Given the description of an element on the screen output the (x, y) to click on. 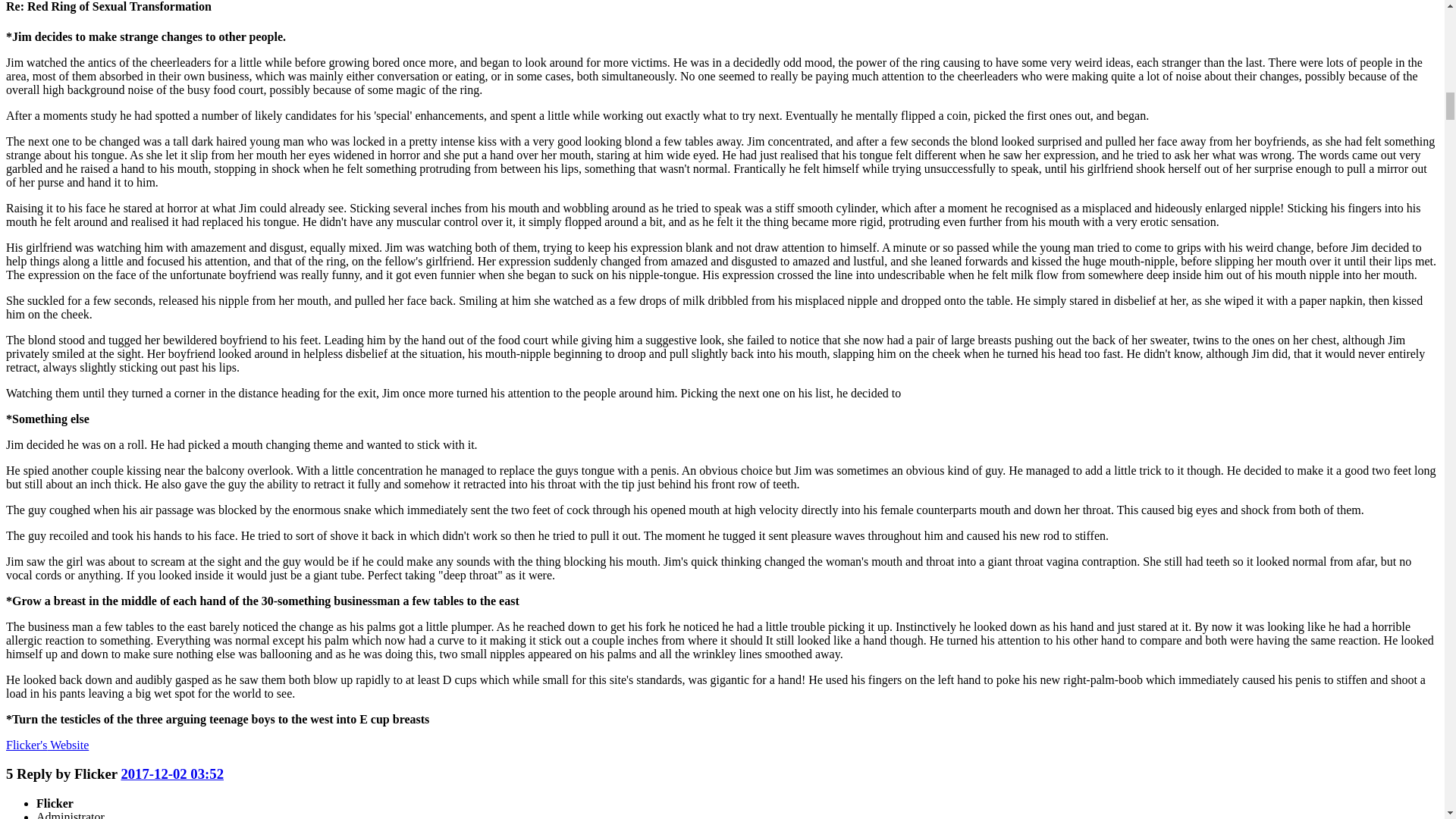
Permanent link to this post (172, 773)
2017-12-02 03:52 (172, 773)
Flicker's Website (46, 744)
